Given the description of an element on the screen output the (x, y) to click on. 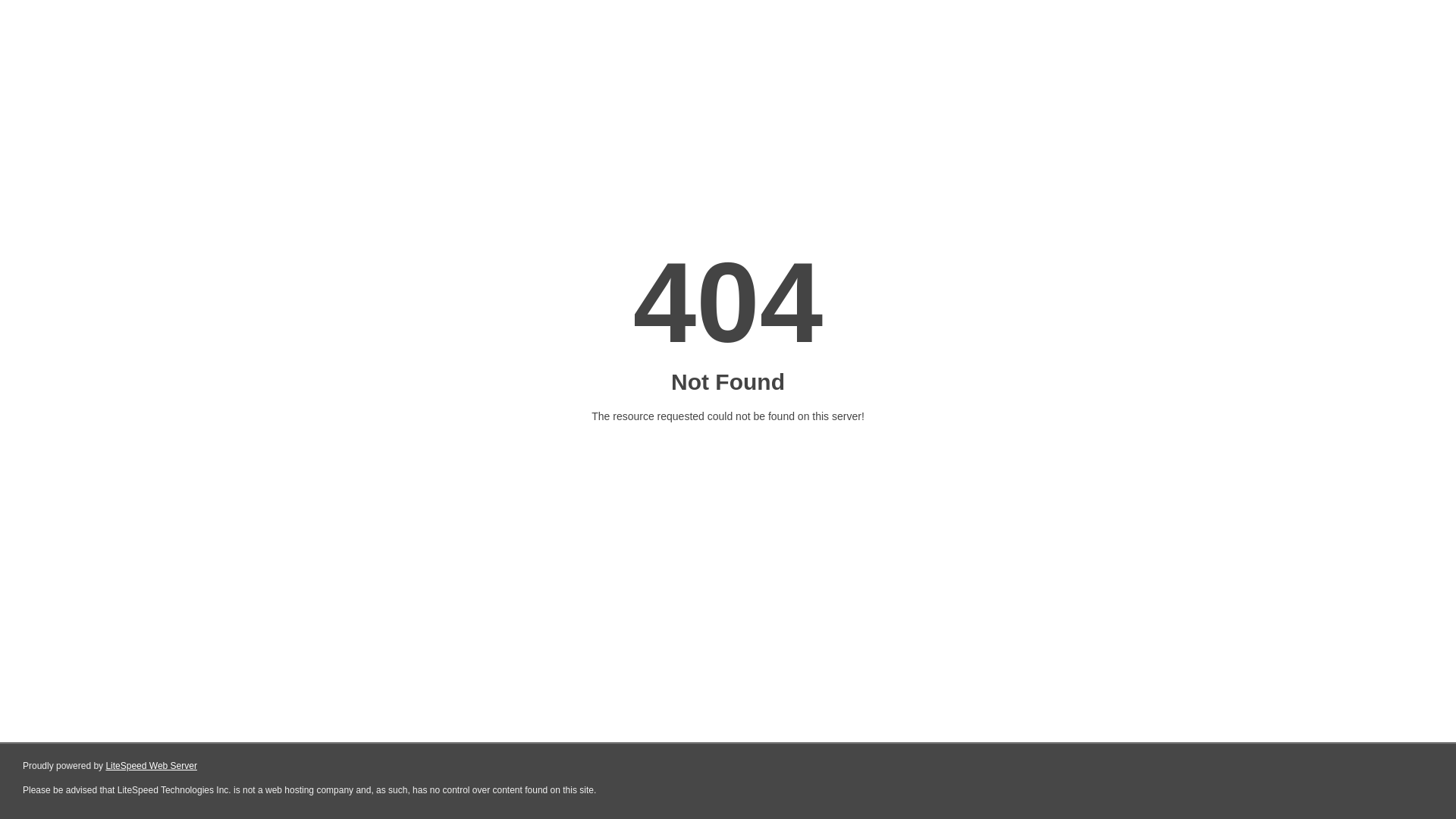
LiteSpeed Web Server Element type: text (151, 765)
